Given the description of an element on the screen output the (x, y) to click on. 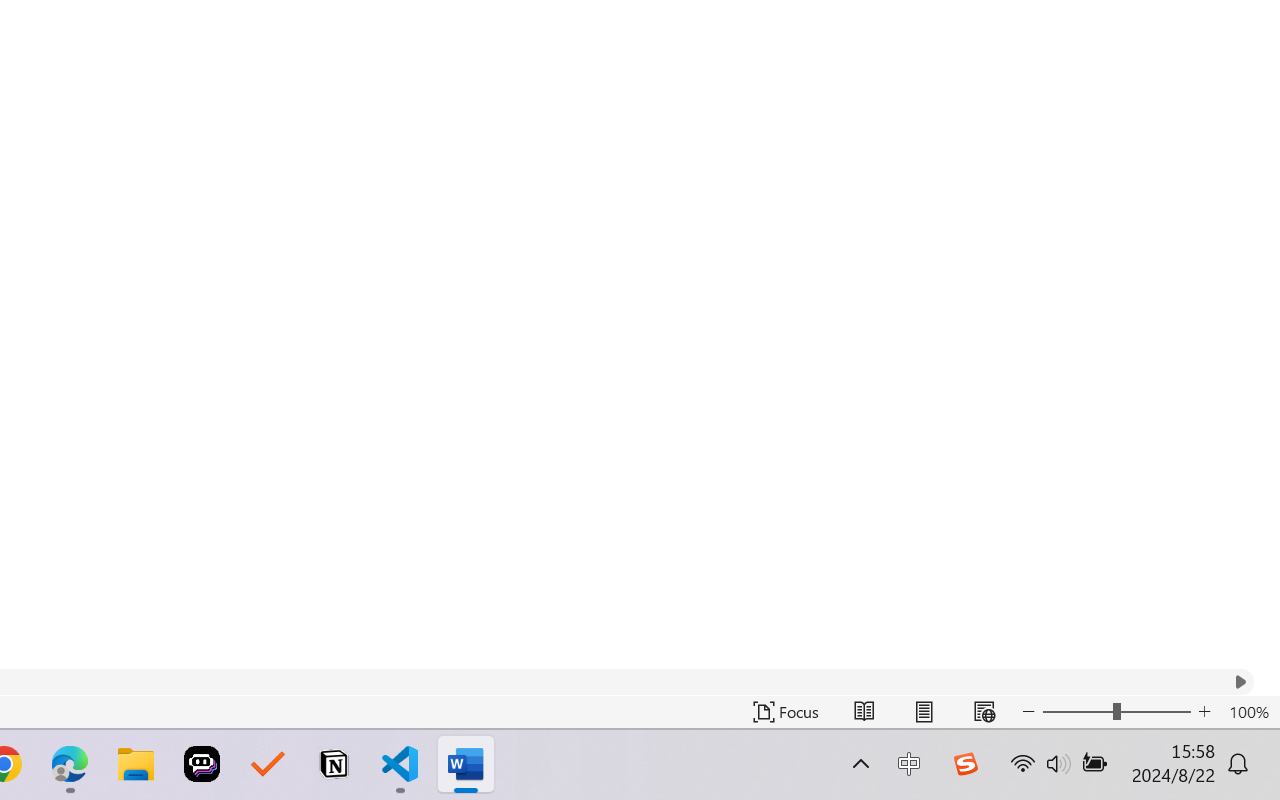
Focus  (786, 712)
Zoom Out (1077, 712)
Print Layout (924, 712)
Read Mode (864, 712)
Zoom In (1204, 712)
Zoom (1116, 712)
Web Layout (984, 712)
Class: Image (965, 764)
Zoom 100% (1249, 712)
Column right (1240, 681)
